Given the description of an element on the screen output the (x, y) to click on. 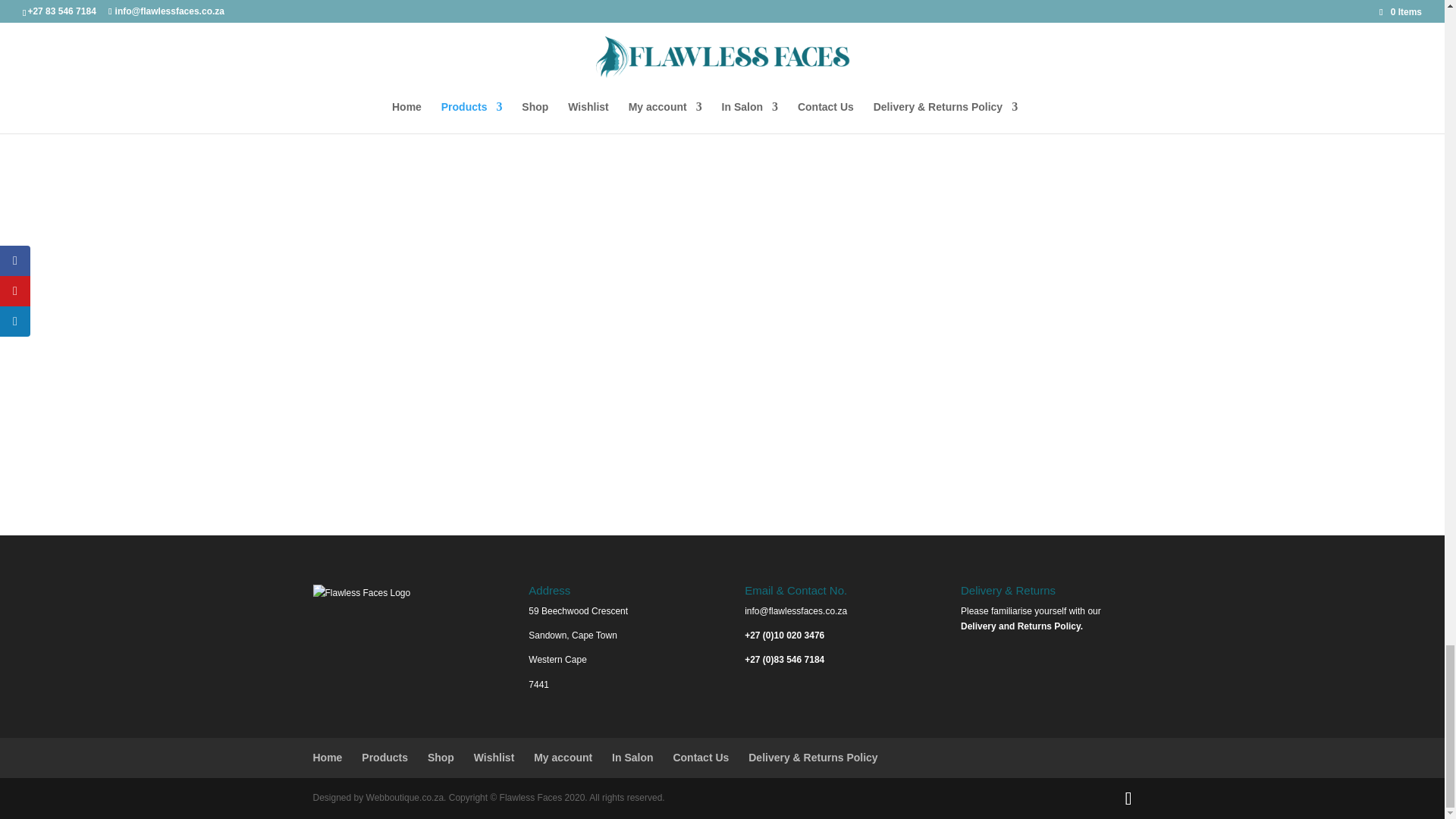
Home (327, 757)
SHOP RestorA (712, 80)
Products (384, 757)
Delivery and Returns Policy. (1021, 625)
RUMAE SENSI-RESCUE (462, 12)
In Salon (631, 757)
Contact Us (700, 757)
Shop (441, 757)
My account (563, 757)
Wishlist (494, 757)
